Given the description of an element on the screen output the (x, y) to click on. 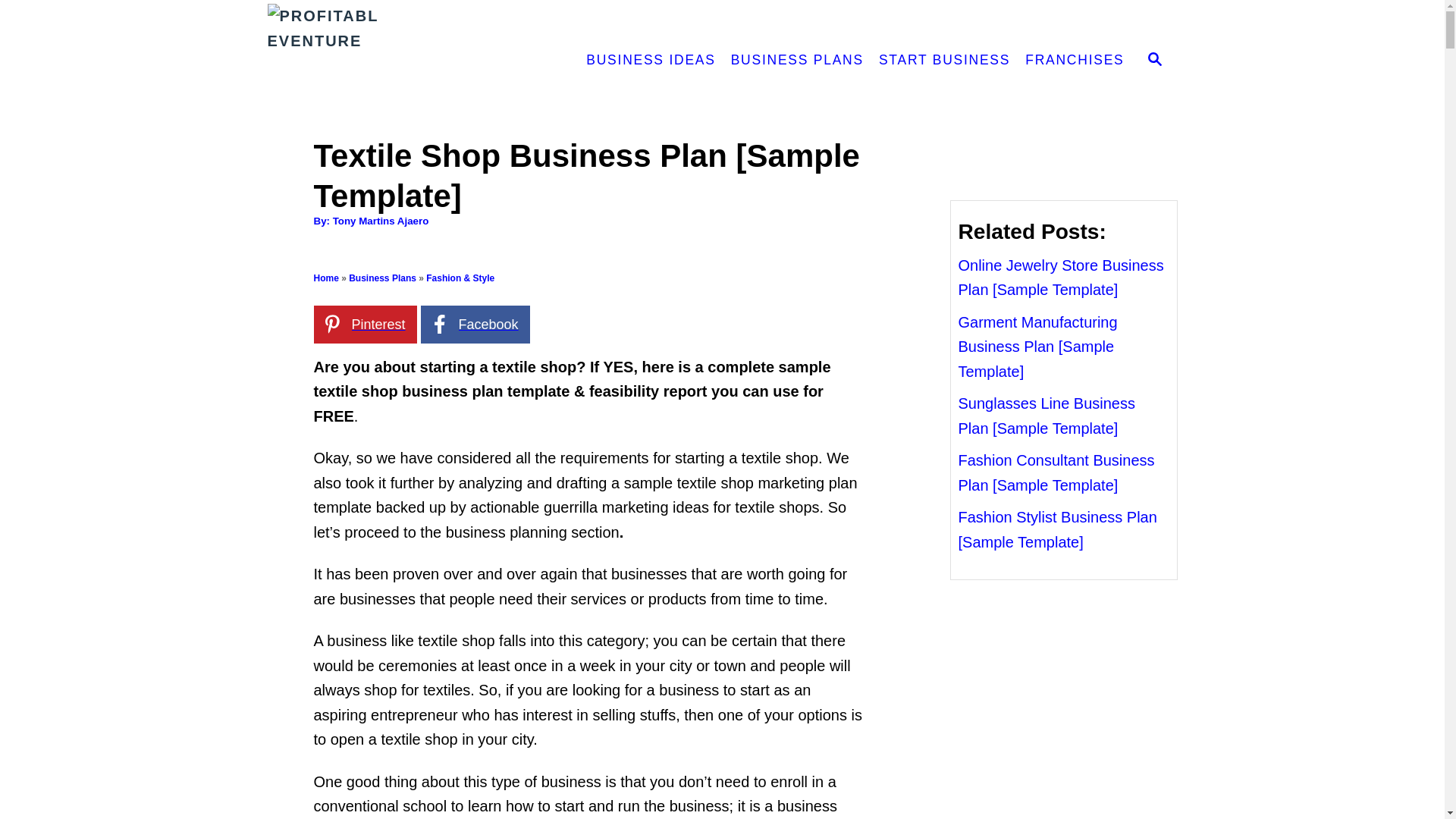
ProfitableVenture (400, 60)
BUSINESS IDEAS (650, 60)
BUSINESS PLANS (796, 60)
Business Plans (382, 277)
START BUSINESS (943, 60)
SEARCH (1154, 60)
Tony Martins Ajaero (381, 220)
FRANCHISES (1074, 60)
Pinterest (365, 324)
Home (326, 277)
Facebook (474, 324)
